Given the description of an element on the screen output the (x, y) to click on. 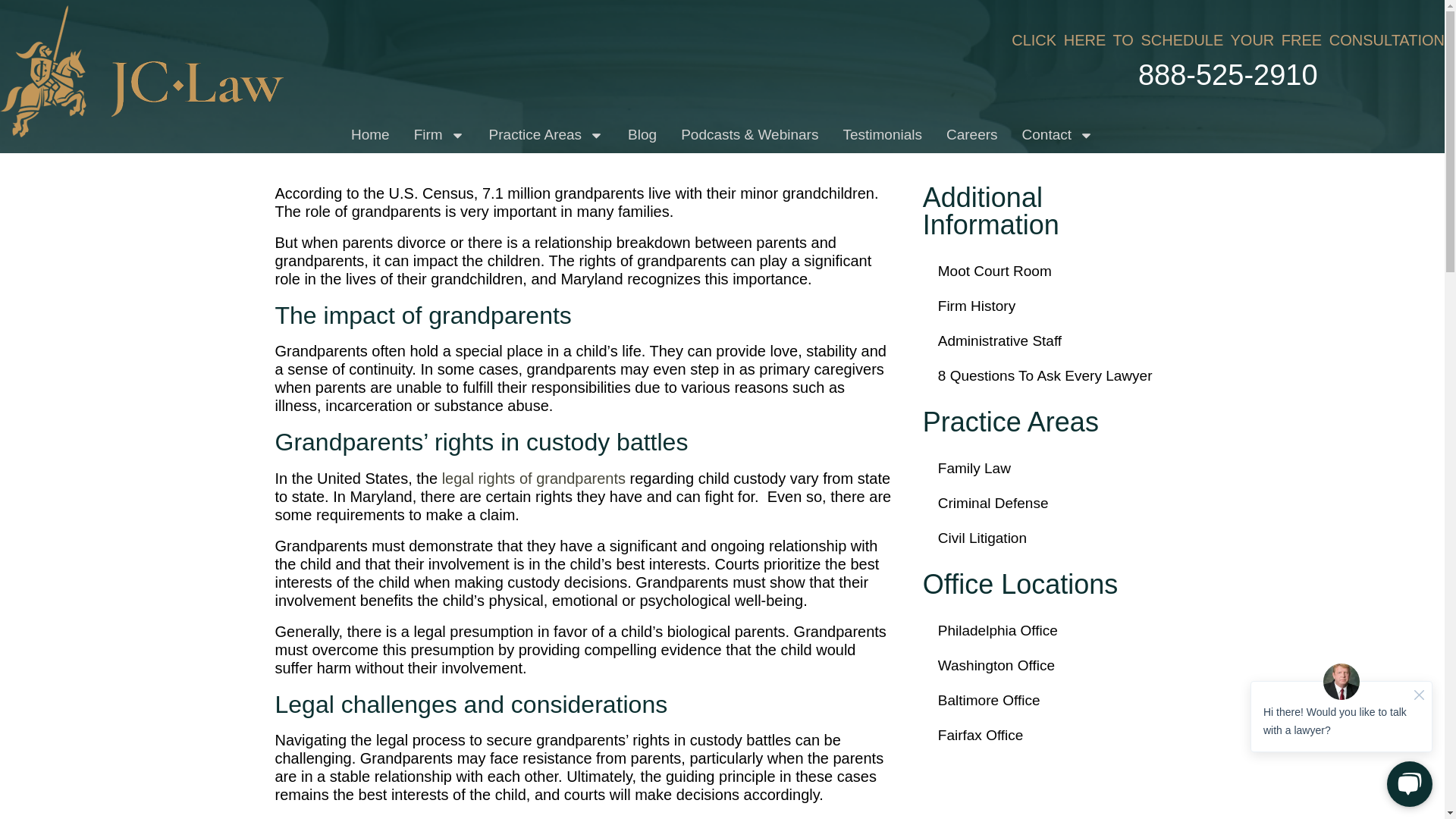
Practice Areas (546, 134)
Home (370, 134)
Chat Widget (1341, 734)
888-525-2910 (1378, 74)
Firm (439, 134)
CLICK HERE TO SCHEDULE YOUR FREE CONSULTATION (1227, 39)
